Given the description of an element on the screen output the (x, y) to click on. 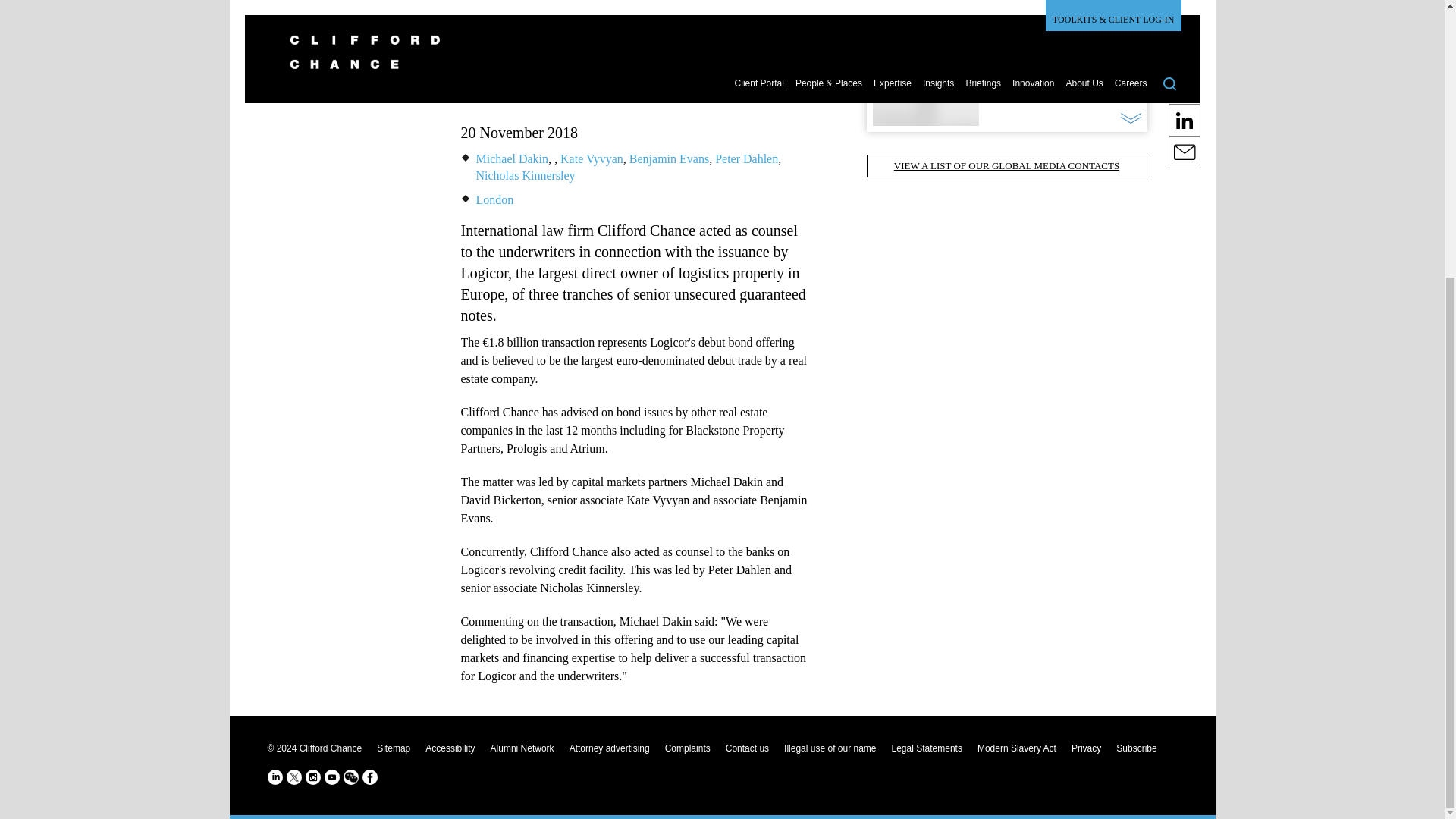
Benjamin Evans (668, 158)
Nicholas Kinnersley (525, 174)
Peter Dahlen (745, 158)
Michael Dakin (512, 158)
Kate Vyvyan (591, 158)
Clifford Chance, London (494, 199)
